Given the description of an element on the screen output the (x, y) to click on. 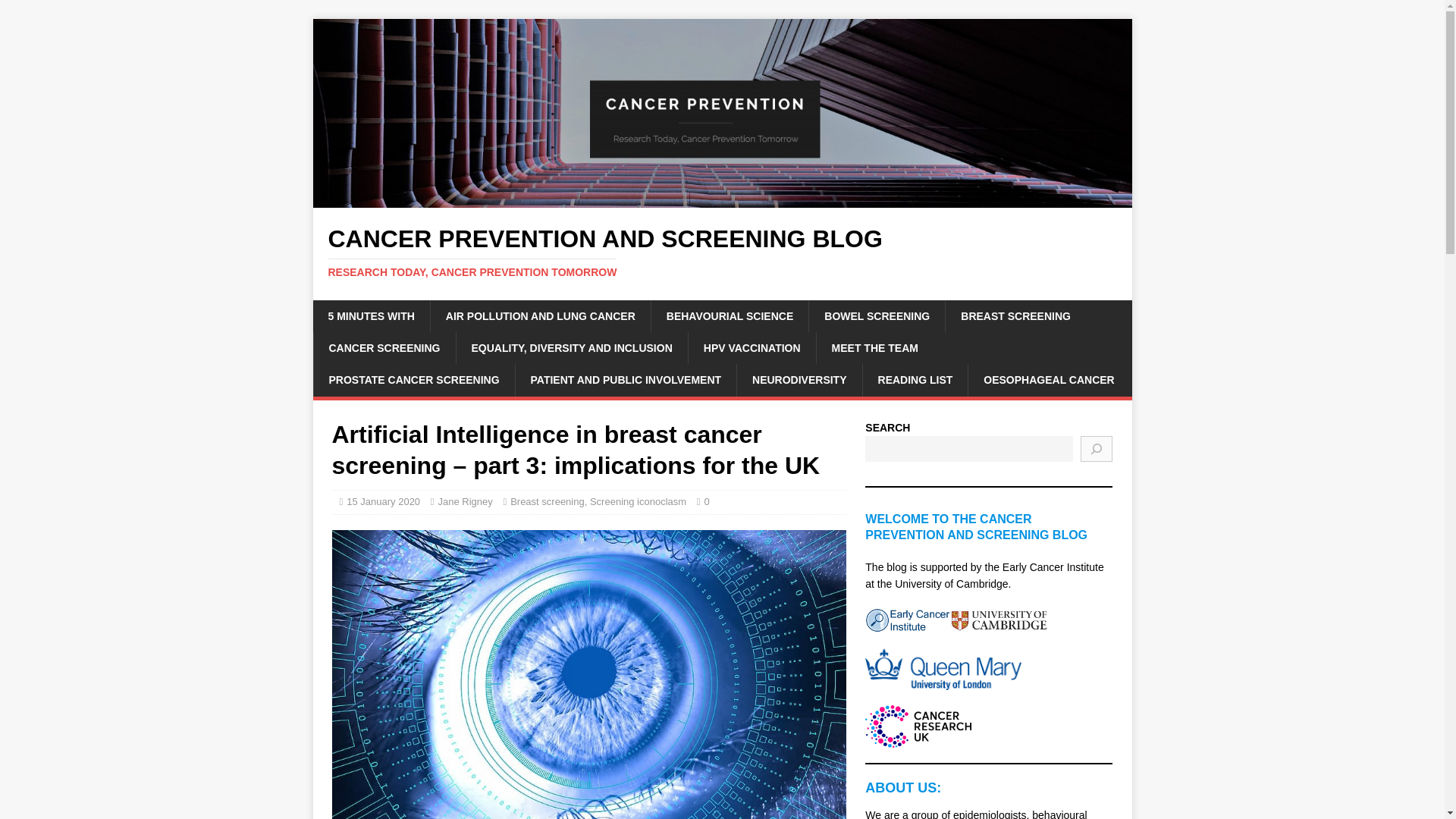
BEHAVOURIAL SCIENCE (729, 316)
Jane Rigney (465, 501)
15 January 2020 (383, 501)
CANCER SCREENING (383, 347)
AIR POLLUTION AND LUNG CANCER (539, 316)
MEET THE TEAM (874, 347)
5 MINUTES WITH (371, 316)
BREAST SCREENING (1015, 316)
